Given the description of an element on the screen output the (x, y) to click on. 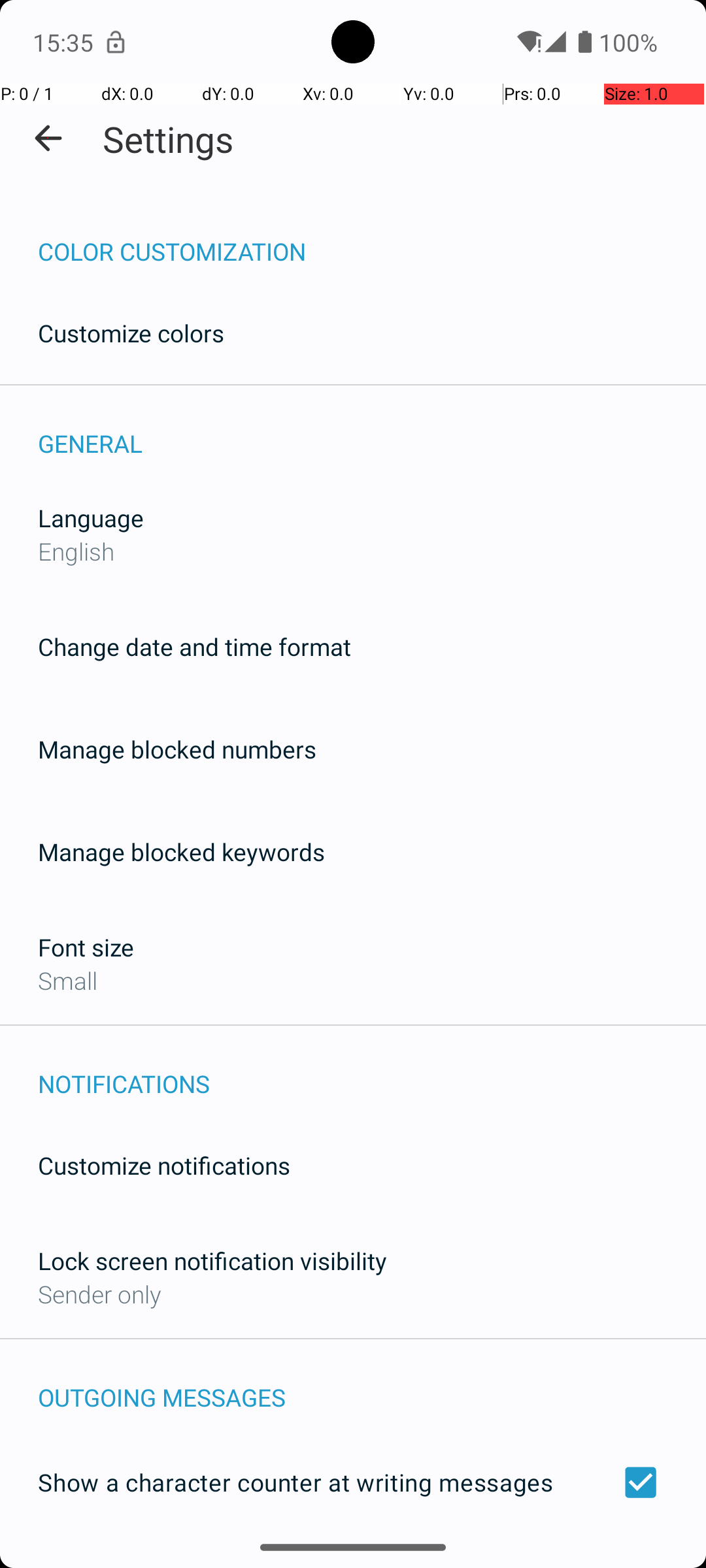
NOTIFICATIONS Element type: android.widget.TextView (371, 1069)
OUTGOING MESSAGES Element type: android.widget.TextView (371, 1383)
Change date and time format Element type: android.widget.TextView (194, 646)
Font size Element type: android.widget.TextView (85, 946)
Small Element type: android.widget.TextView (67, 979)
Lock screen notification visibility Element type: android.widget.TextView (211, 1260)
Sender only Element type: android.widget.TextView (99, 1293)
Show a character counter at writing messages Element type: android.widget.CheckBox (352, 1482)
Remove accents and diacritics at sending messages Element type: android.widget.CheckBox (352, 1559)
